Given the description of an element on the screen output the (x, y) to click on. 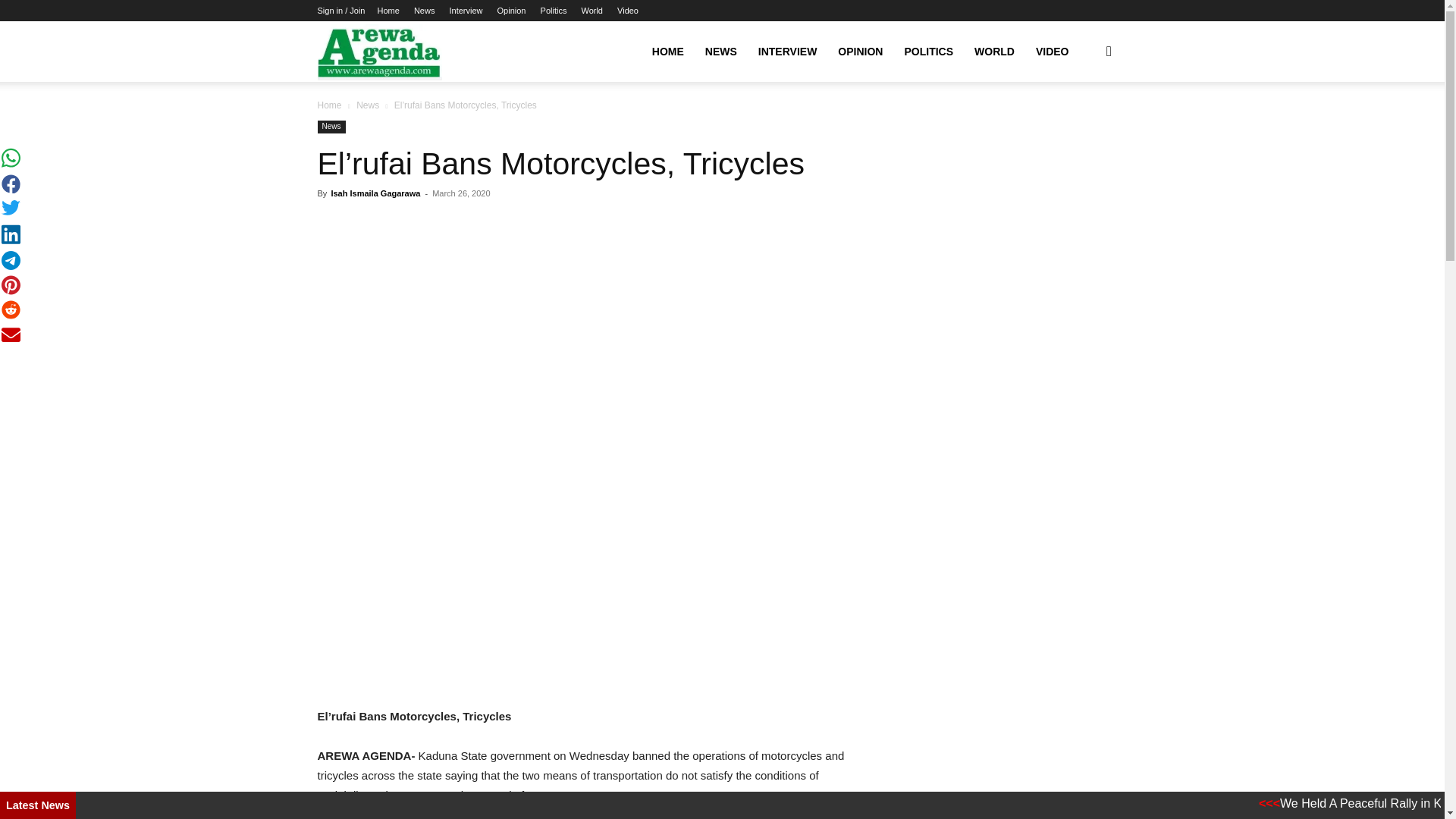
Arewa Agenda (379, 51)
View all posts in News (367, 104)
Interview (464, 10)
Video (628, 10)
News (424, 10)
Politics (553, 10)
Search (1085, 124)
Home (387, 10)
Opinion (511, 10)
World (591, 10)
